Given the description of an element on the screen output the (x, y) to click on. 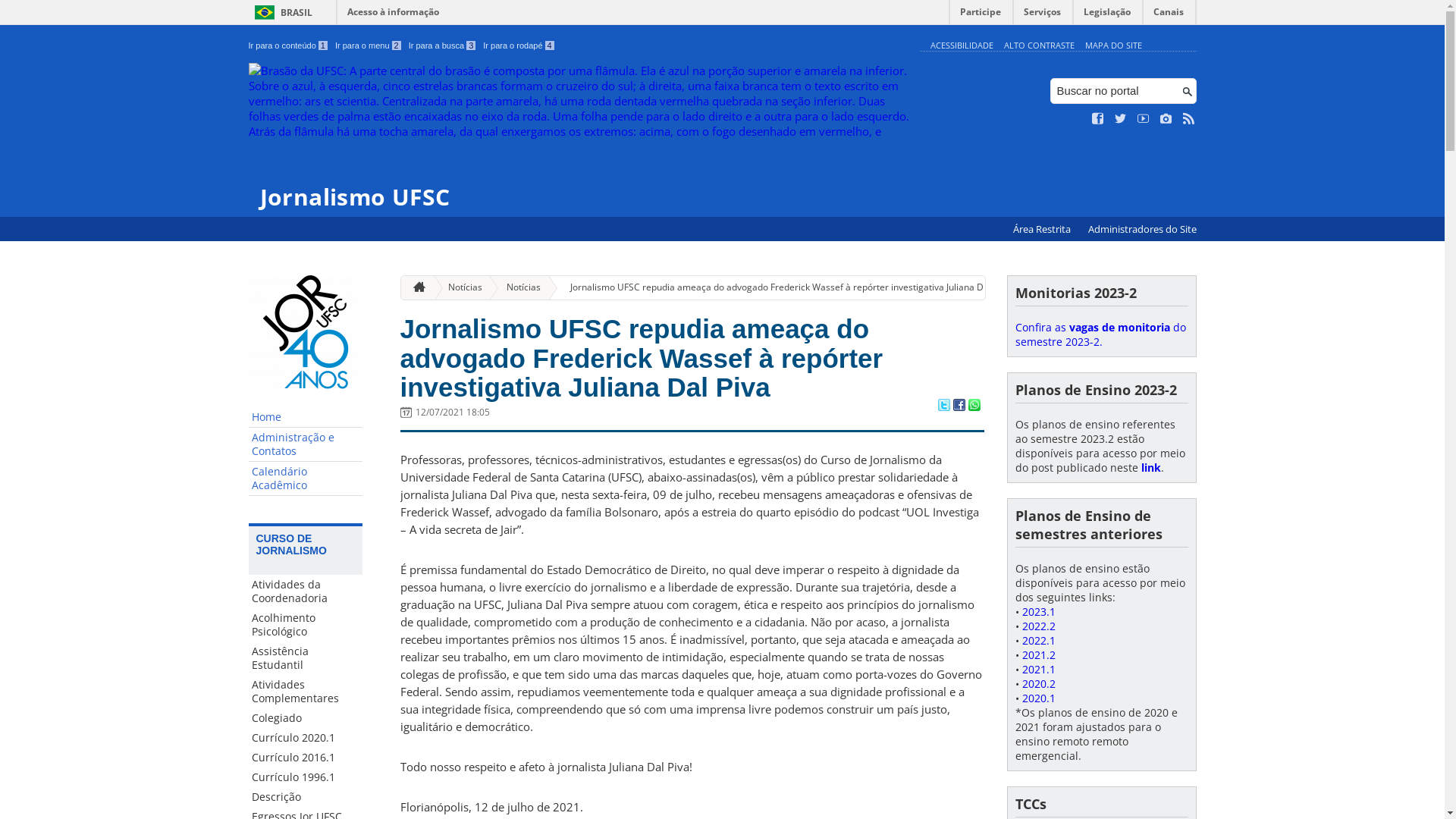
Curta no Facebook Element type: hover (1098, 118)
Administradores do Site Element type: text (1141, 228)
ACESSIBILIDADE Element type: text (960, 44)
2021.1 Element type: text (1038, 669)
Ir para a busca 3 Element type: text (442, 45)
MAPA DO SITE Element type: text (1112, 44)
Colegiado Element type: text (305, 718)
Siga no Twitter Element type: hover (1120, 118)
Veja no Instagram Element type: hover (1166, 118)
Ir para o menu 2 Element type: text (368, 45)
2020.1 Element type: text (1038, 697)
Participe Element type: text (980, 15)
BRASIL Element type: text (280, 12)
2022.1 Element type: text (1038, 640)
2021.2 Element type: text (1038, 654)
2020.2 Element type: text (1038, 683)
Jornalismo UFSC Element type: text (580, 135)
Confira as vagas de monitoria do semestre 2023-2. Element type: text (1099, 334)
Canais Element type: text (1169, 15)
2023.1 Element type: text (1038, 611)
Compartilhar no Facebook Element type: hover (958, 406)
Compartilhar no WhatsApp Element type: hover (973, 406)
Home Element type: text (305, 417)
Atividades da Coordenadoria Element type: text (305, 591)
Compartilhar no Twitter Element type: hover (943, 406)
ALTO CONTRASTE Element type: text (1039, 44)
Atividades Complementares Element type: text (305, 691)
link Element type: text (1150, 467)
2022.2 Element type: text (1038, 625)
